Given the description of an element on the screen output the (x, y) to click on. 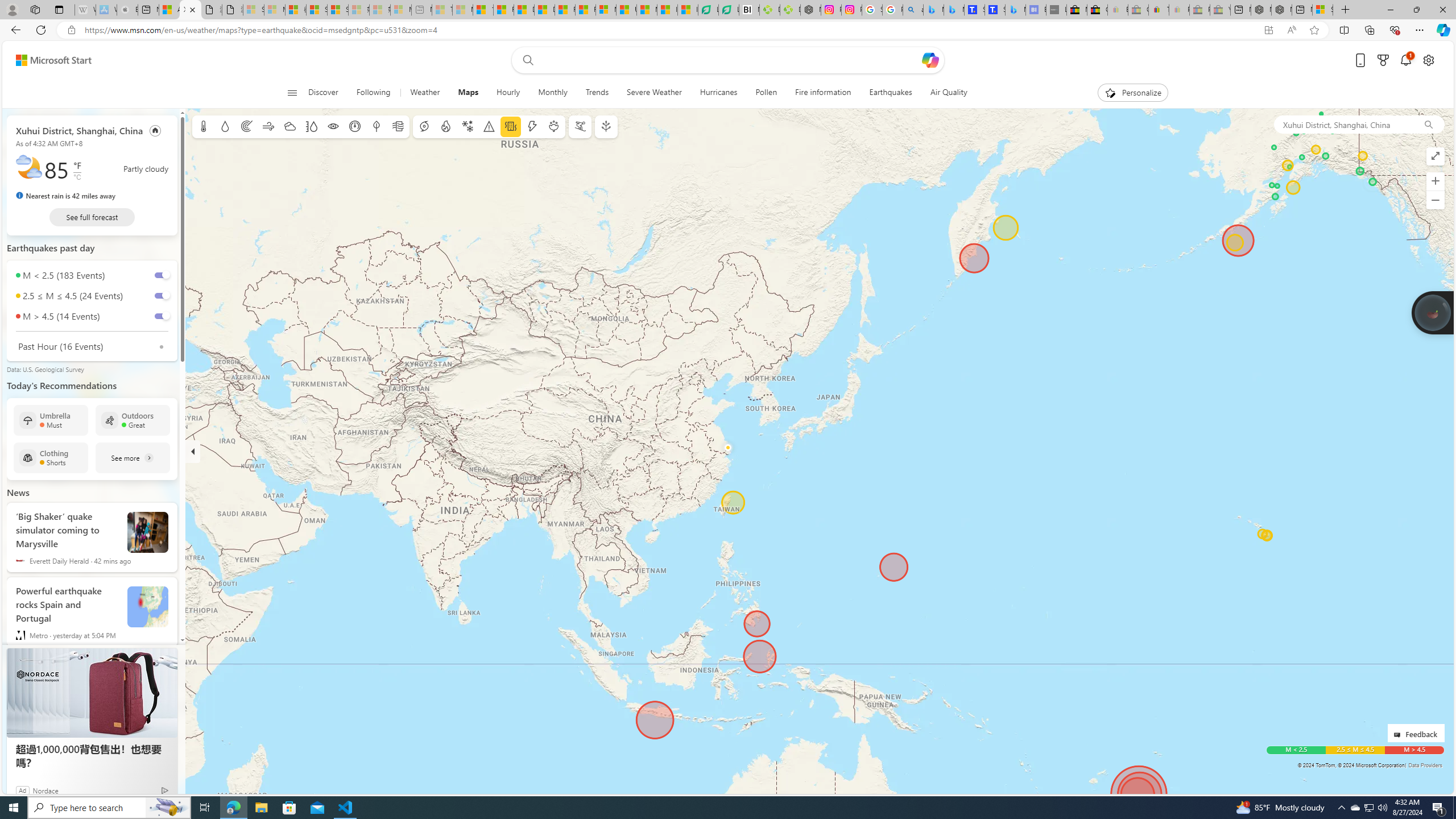
Sign in to your Microsoft account - Sleeping (253, 9)
Yard, Garden & Outdoor Living - Sleeping (1219, 9)
Enter full screen mode (1435, 156)
Food and Drink - MSN (503, 9)
E-tree (605, 126)
Clothing Shorts (50, 457)
Weather (424, 92)
Web search (526, 60)
